Given the description of an element on the screen output the (x, y) to click on. 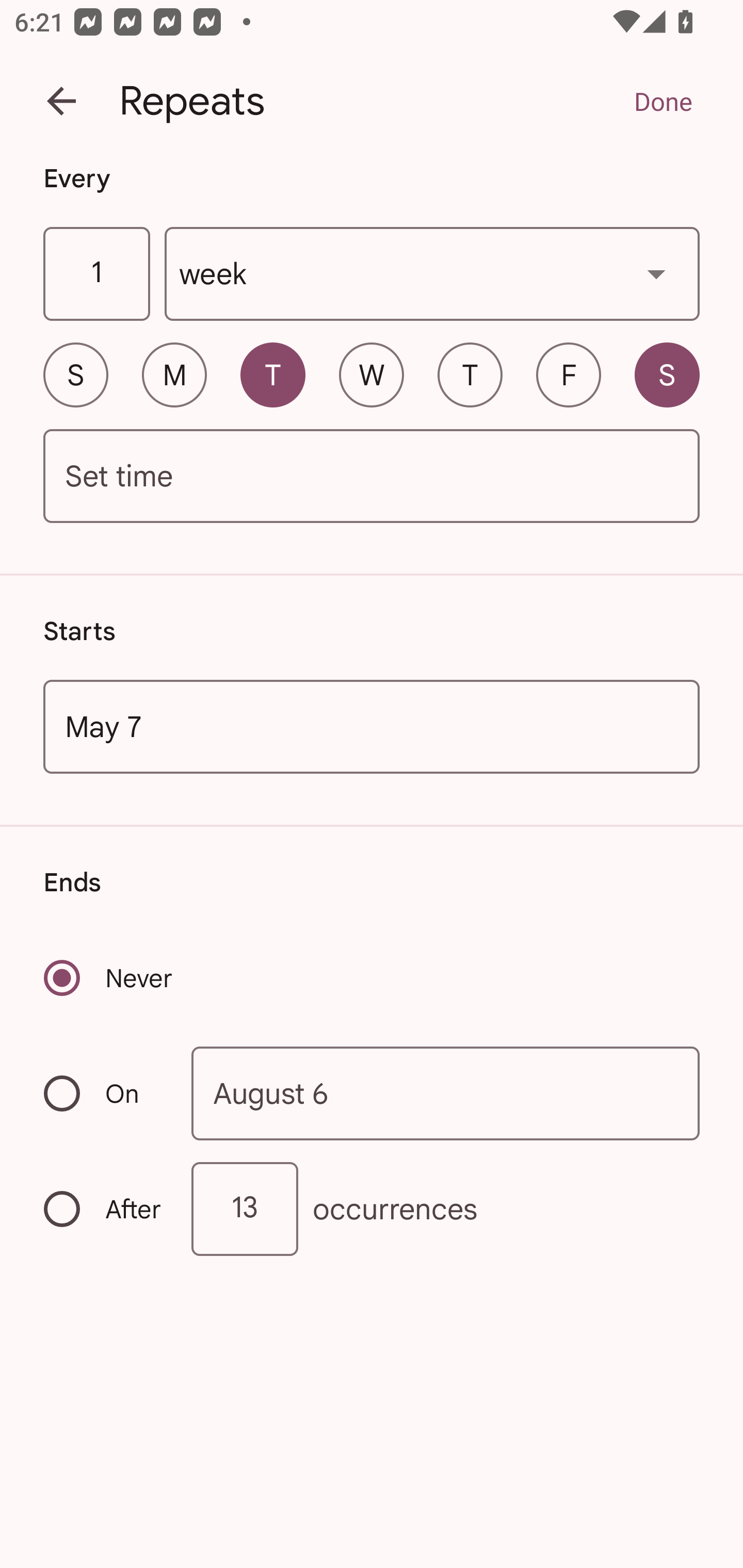
Back (61, 101)
Done (663, 101)
1 (96, 274)
week (431, 274)
Show dropdown menu (655, 273)
S Sunday (75, 374)
M Monday (173, 374)
T Tuesday, selected (272, 374)
W Wednesday (371, 374)
T Thursday (469, 374)
F Friday (568, 374)
S Saturday, selected (666, 374)
Set time (371, 476)
May 7 (371, 726)
Never Recurrence never ends (109, 978)
August 6 (445, 1092)
On Recurrence ends on a specific date (104, 1093)
13 (244, 1208)
